Given the description of an element on the screen output the (x, y) to click on. 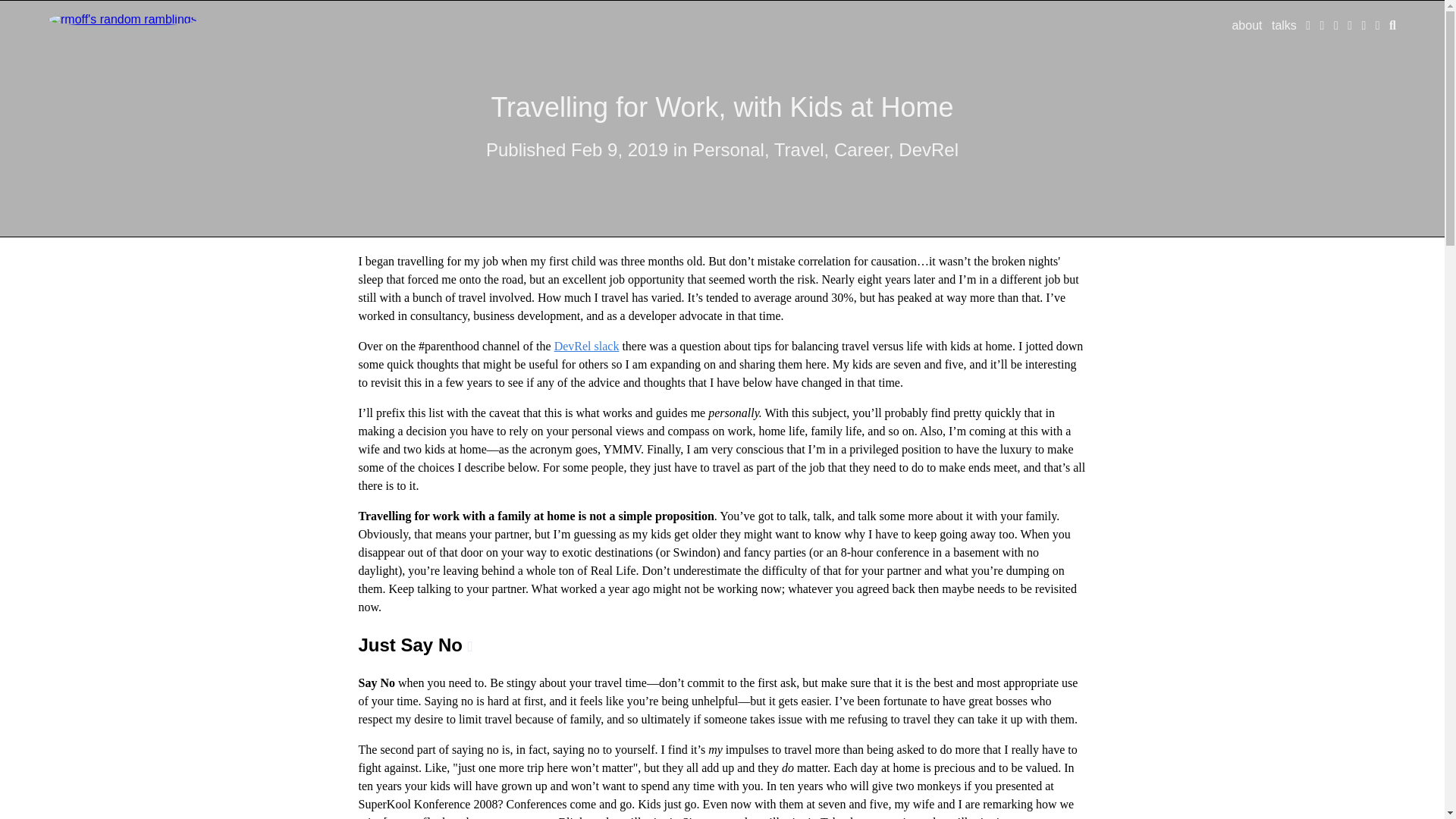
talks (1284, 24)
Travel (799, 149)
about (1246, 24)
DevRel (928, 149)
Career (861, 149)
Personal (728, 149)
DevRel slack (587, 345)
Home (122, 19)
